Given the description of an element on the screen output the (x, y) to click on. 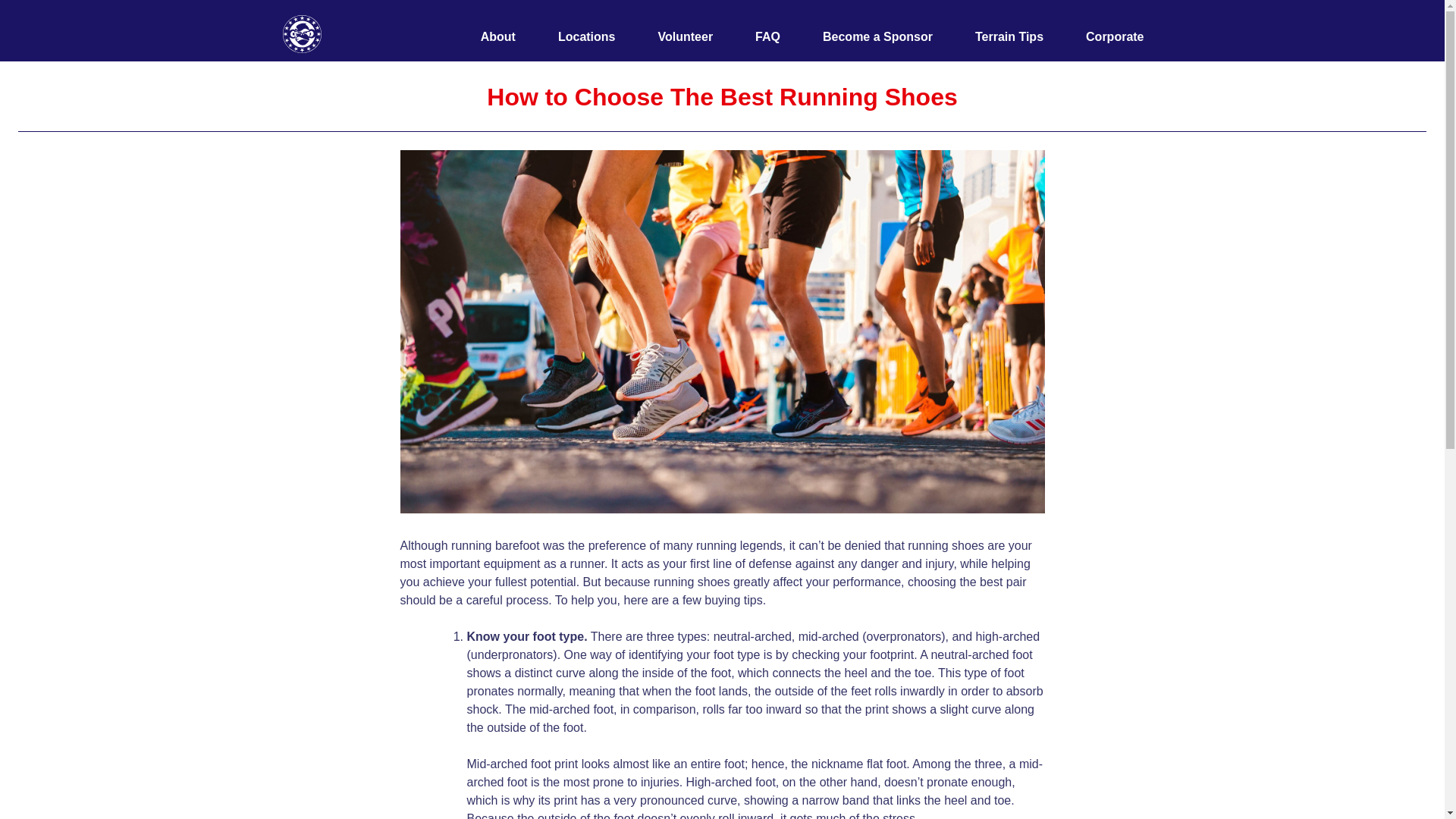
Become a Sponsor (877, 36)
Volunteer (685, 36)
Locations (586, 36)
Terrain Race (318, 81)
About (497, 36)
Corporate (1115, 36)
FAQ (767, 36)
Terrain Tips (1009, 36)
